Given the description of an element on the screen output the (x, y) to click on. 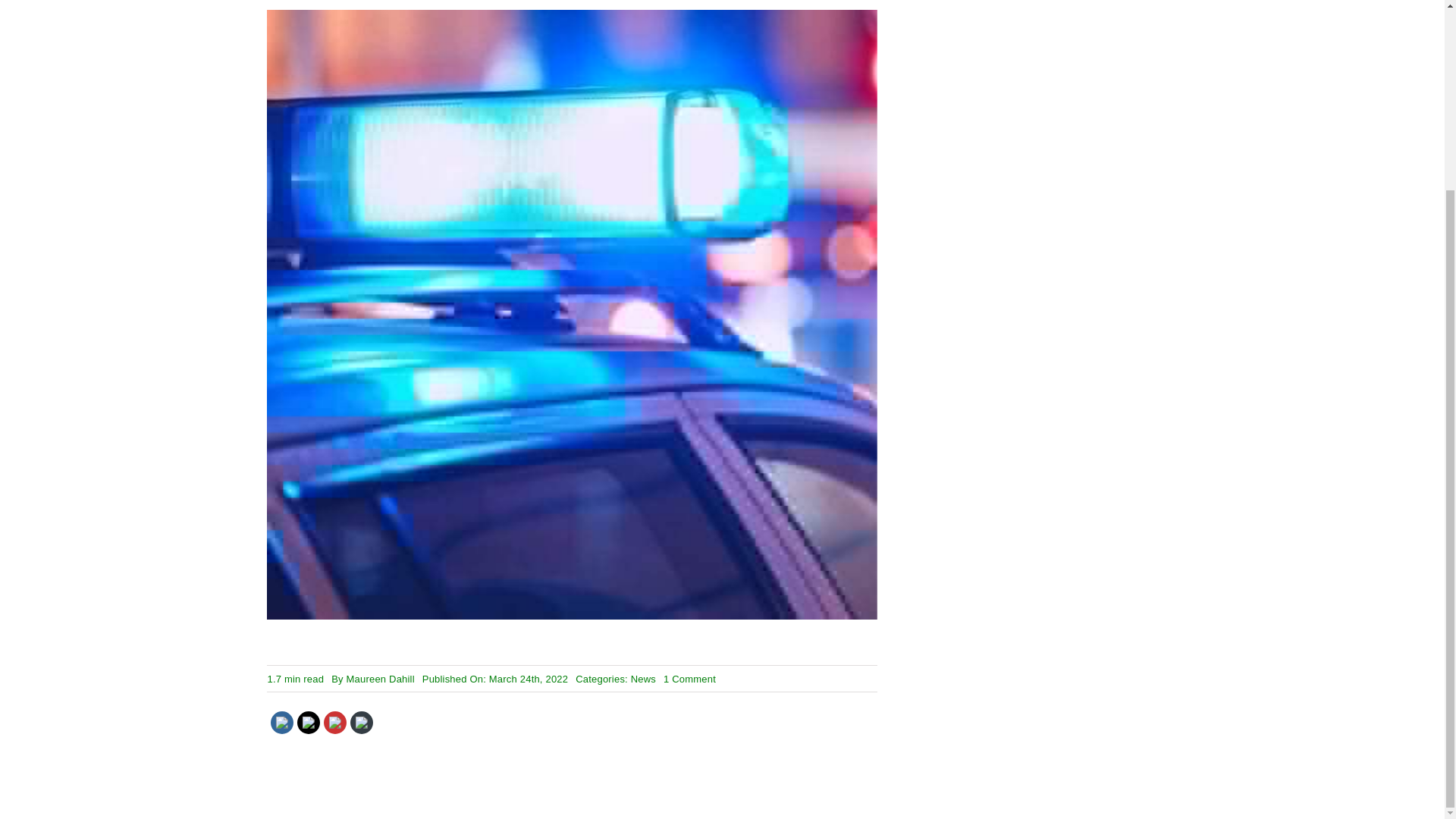
Facebook (282, 722)
Twitter (308, 722)
Posts by Maureen Dahill (380, 678)
Follow by Email (361, 722)
Pinterest (335, 722)
